Given the description of an element on the screen output the (x, y) to click on. 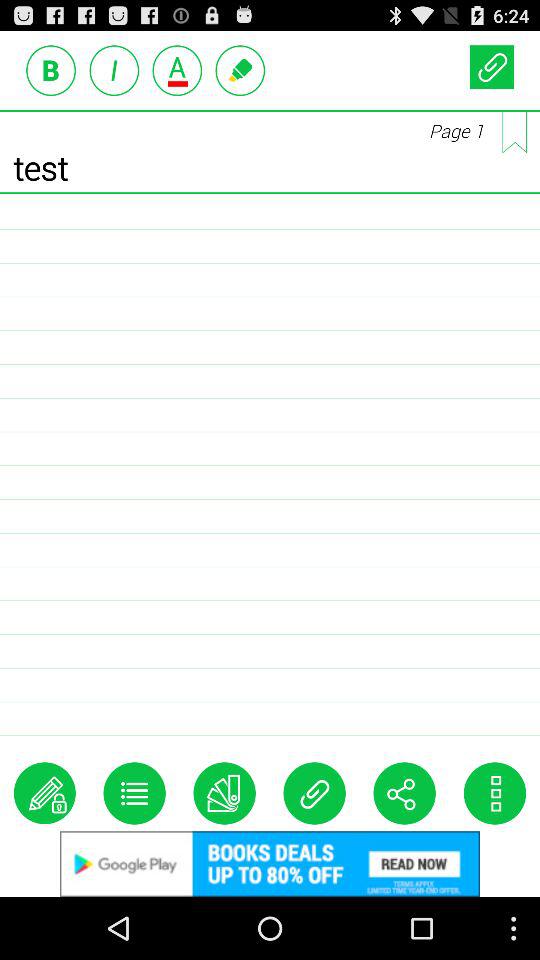
go to all (514, 132)
